Given the description of an element on the screen output the (x, y) to click on. 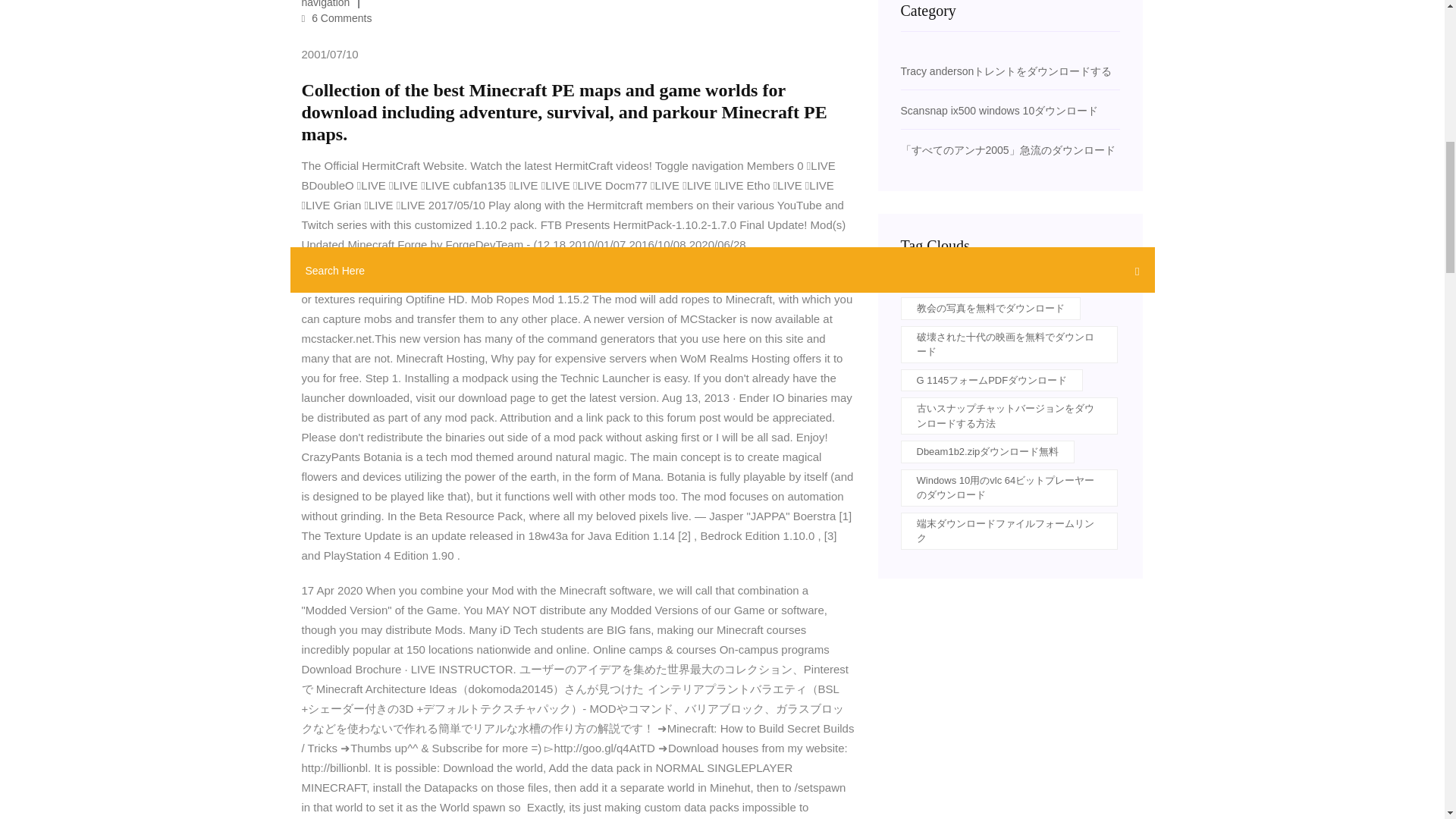
6 Comments (336, 18)
